Given the description of an element on the screen output the (x, y) to click on. 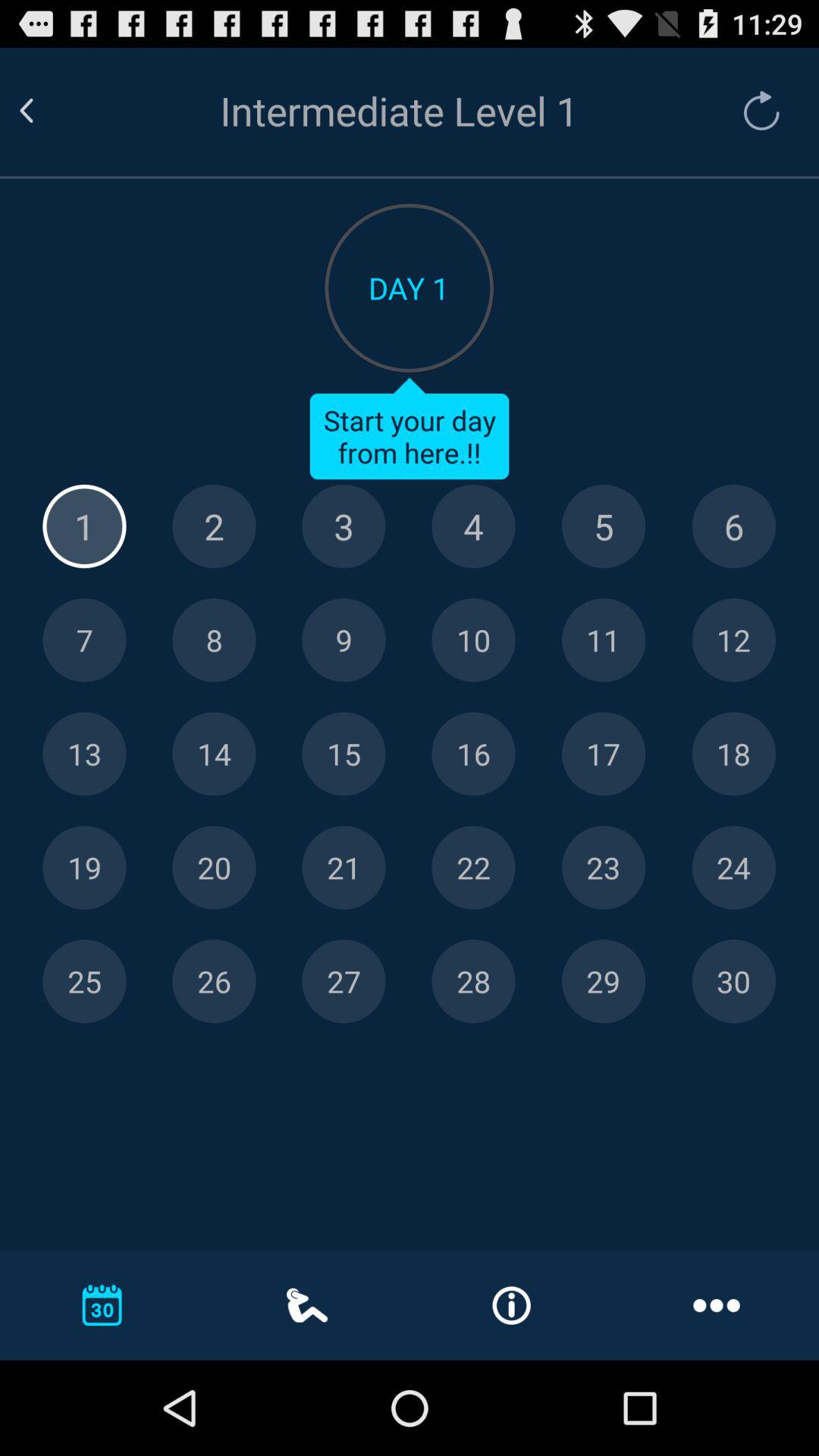
day 14 (213, 753)
